Given the description of an element on the screen output the (x, y) to click on. 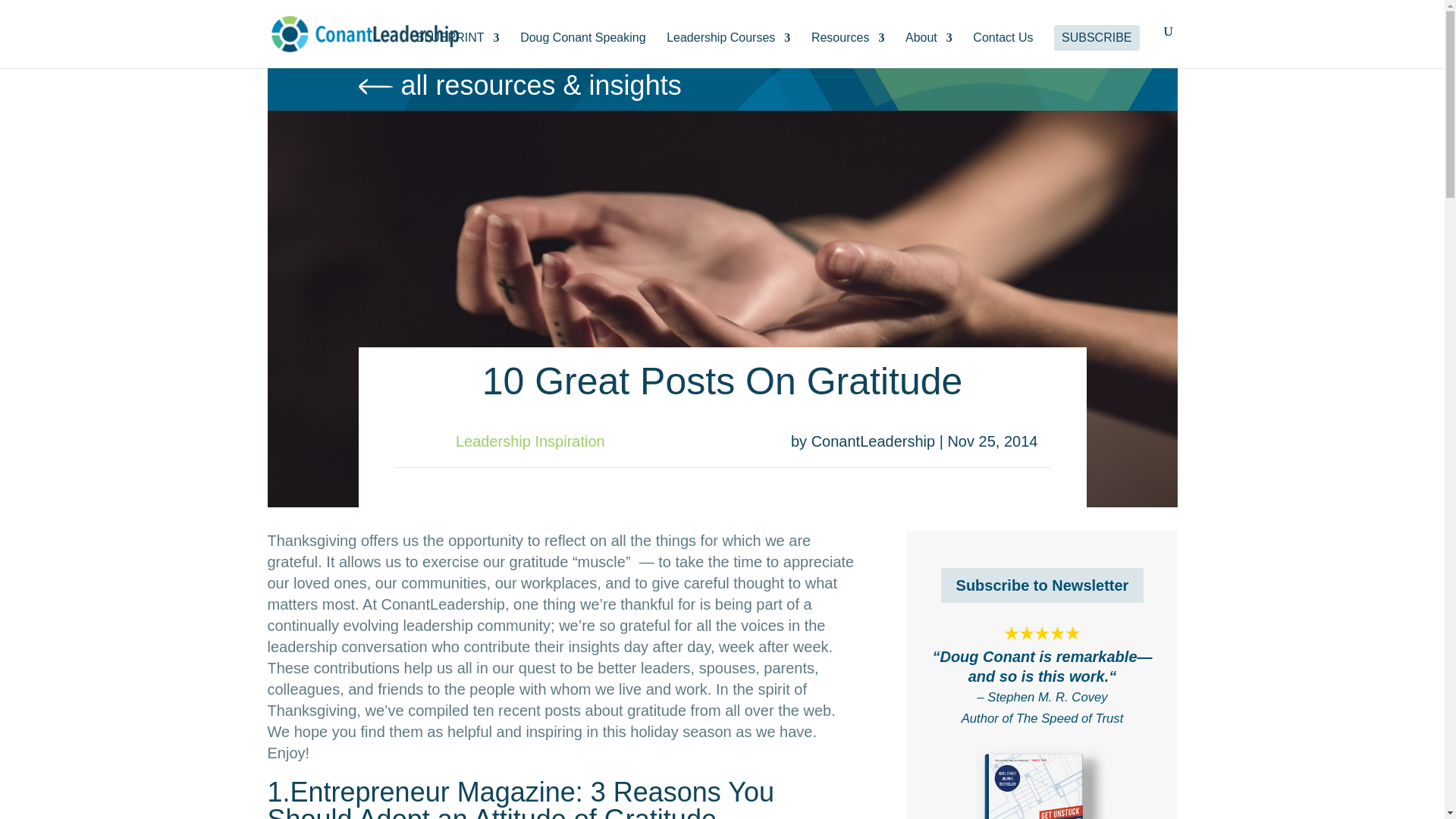
Doug Conant Speaking (582, 49)
Posts by ConantLeadership (872, 441)
Leadership Inspiration (530, 441)
Resources (846, 49)
Contact Us (1002, 49)
ConantLeadership (872, 441)
SUBSCRIBE (1096, 37)
Leadership Courses (728, 49)
About (928, 49)
